Given the description of an element on the screen output the (x, y) to click on. 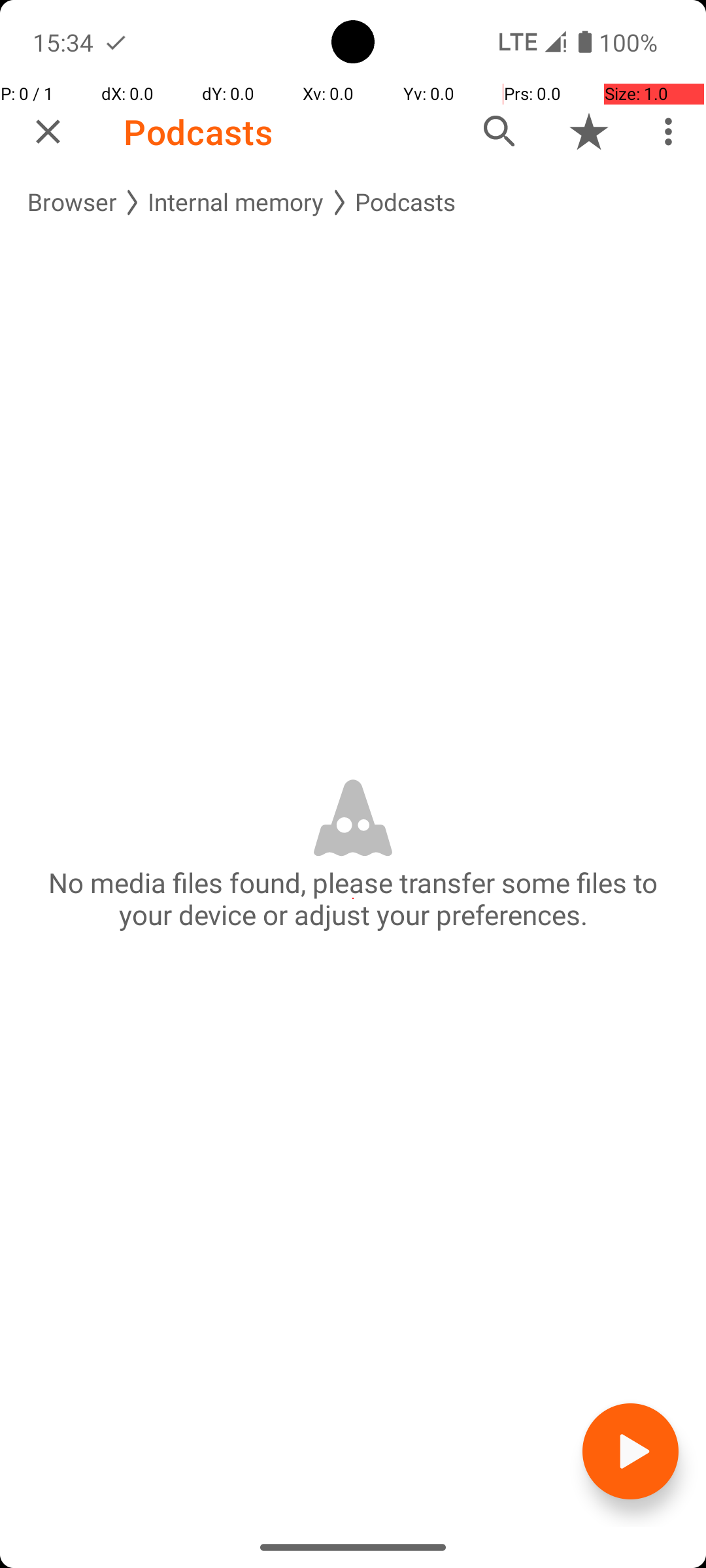
Browser Element type: android.widget.TextView (72, 202)
